Given the description of an element on the screen output the (x, y) to click on. 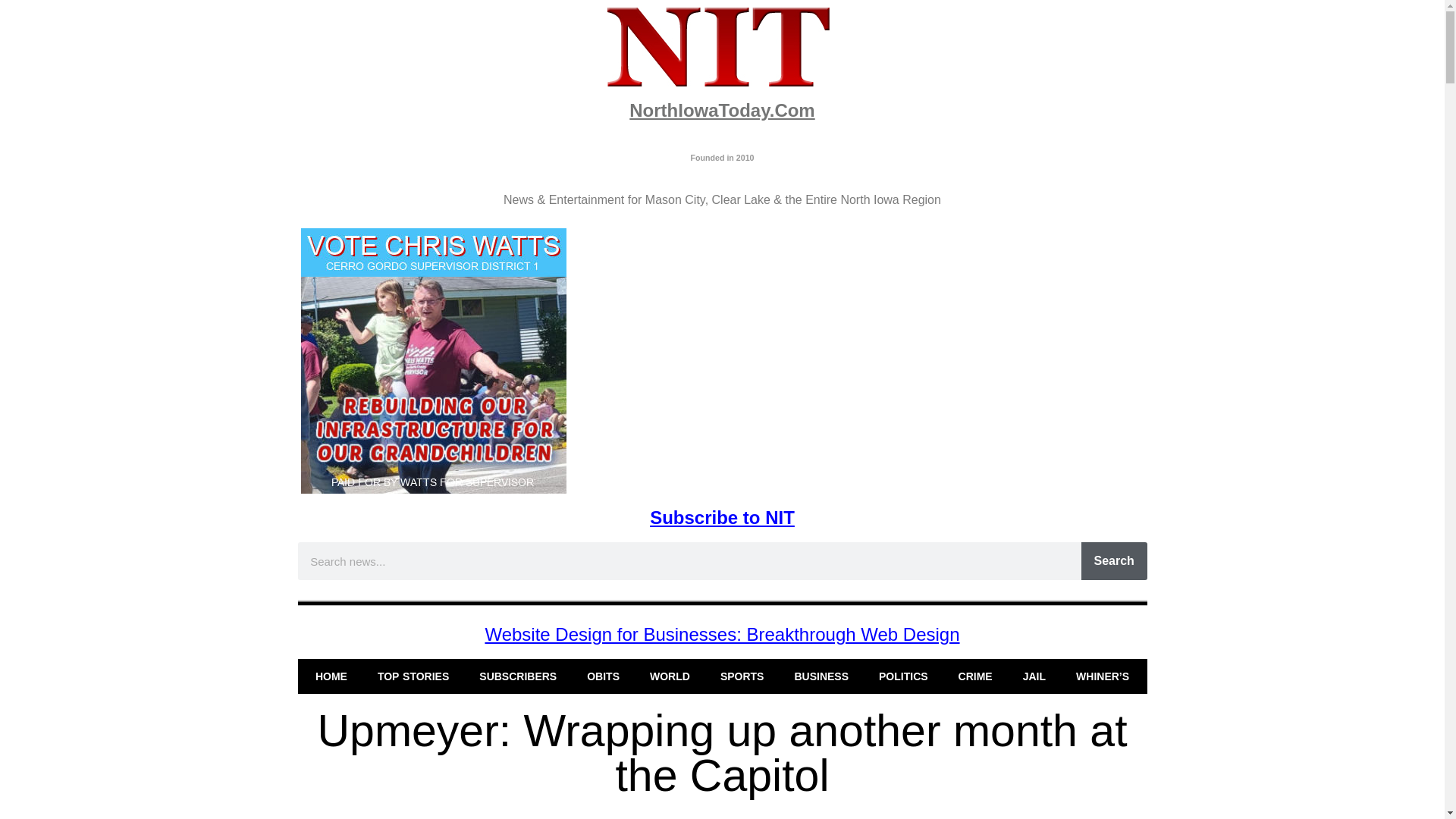
HOME (330, 676)
Website Design for Businesses: Breakthrough Web Design (721, 634)
OBITS (603, 676)
NorthIowaToday.Com (720, 109)
CRIME (975, 676)
WORLD (669, 676)
SPORTS (741, 676)
Search (1114, 560)
SUBSCRIBERS (518, 676)
Subscribe to NIT (721, 516)
